Given the description of an element on the screen output the (x, y) to click on. 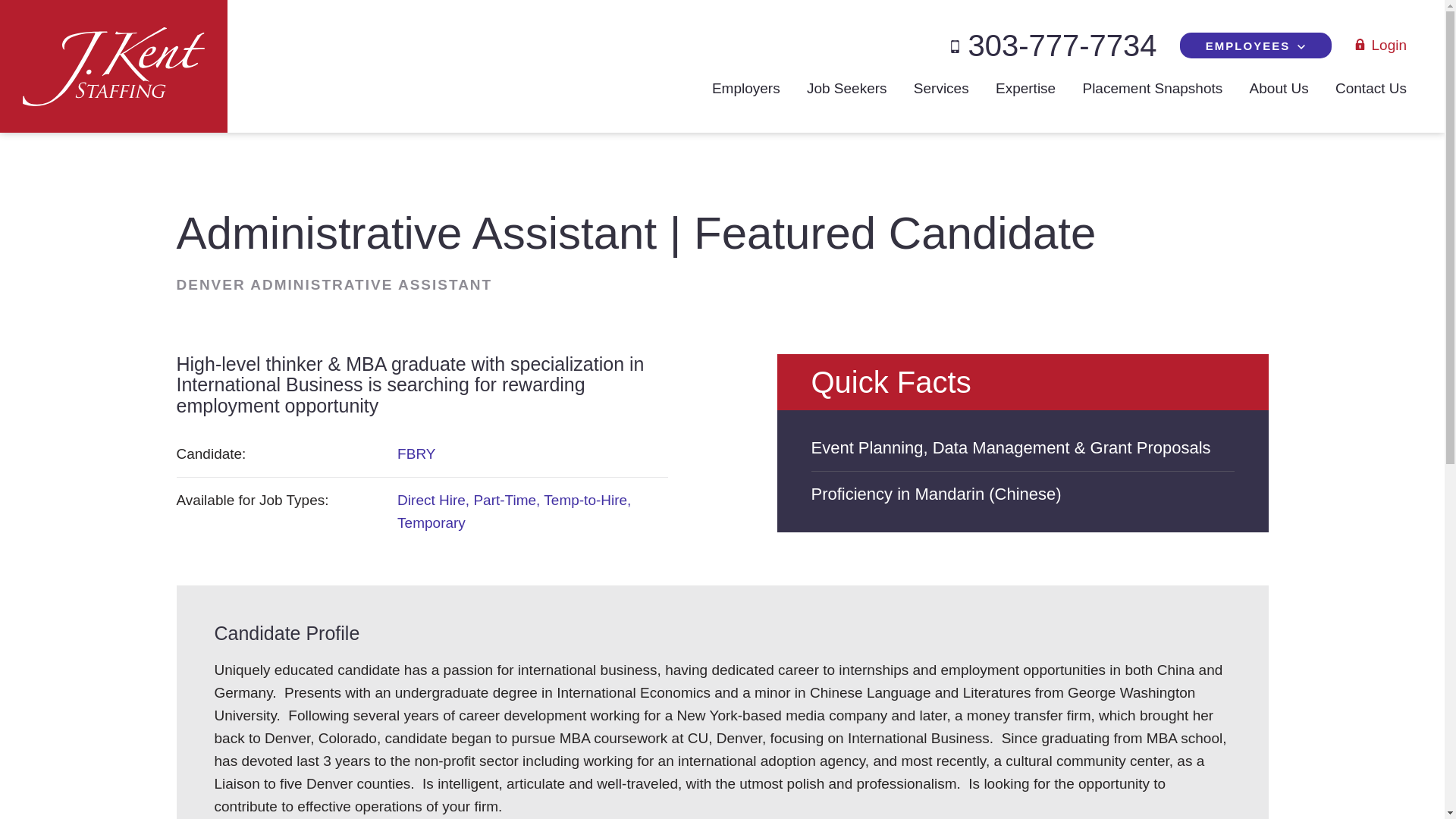
Expertise (1025, 87)
J Kent Staffing (114, 65)
303-777-7734 (1052, 45)
EMPLOYEES (1255, 45)
About Us (1278, 87)
Placement Snapshots (1152, 87)
Job Seekers (846, 87)
Login (1380, 45)
Services (941, 87)
Employers (745, 87)
